Given the description of an element on the screen output the (x, y) to click on. 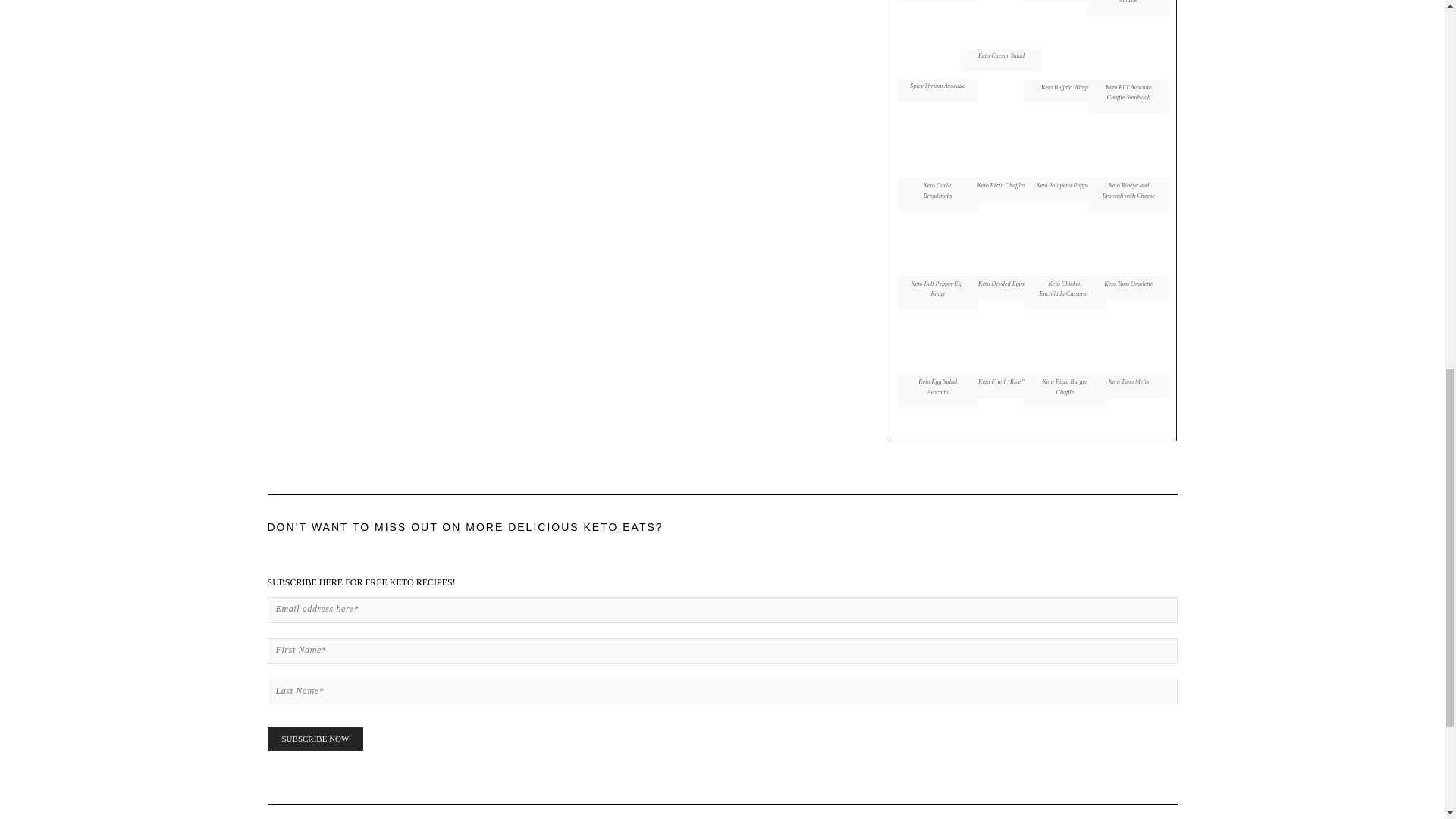
Subscribe now (314, 739)
